Given the description of an element on the screen output the (x, y) to click on. 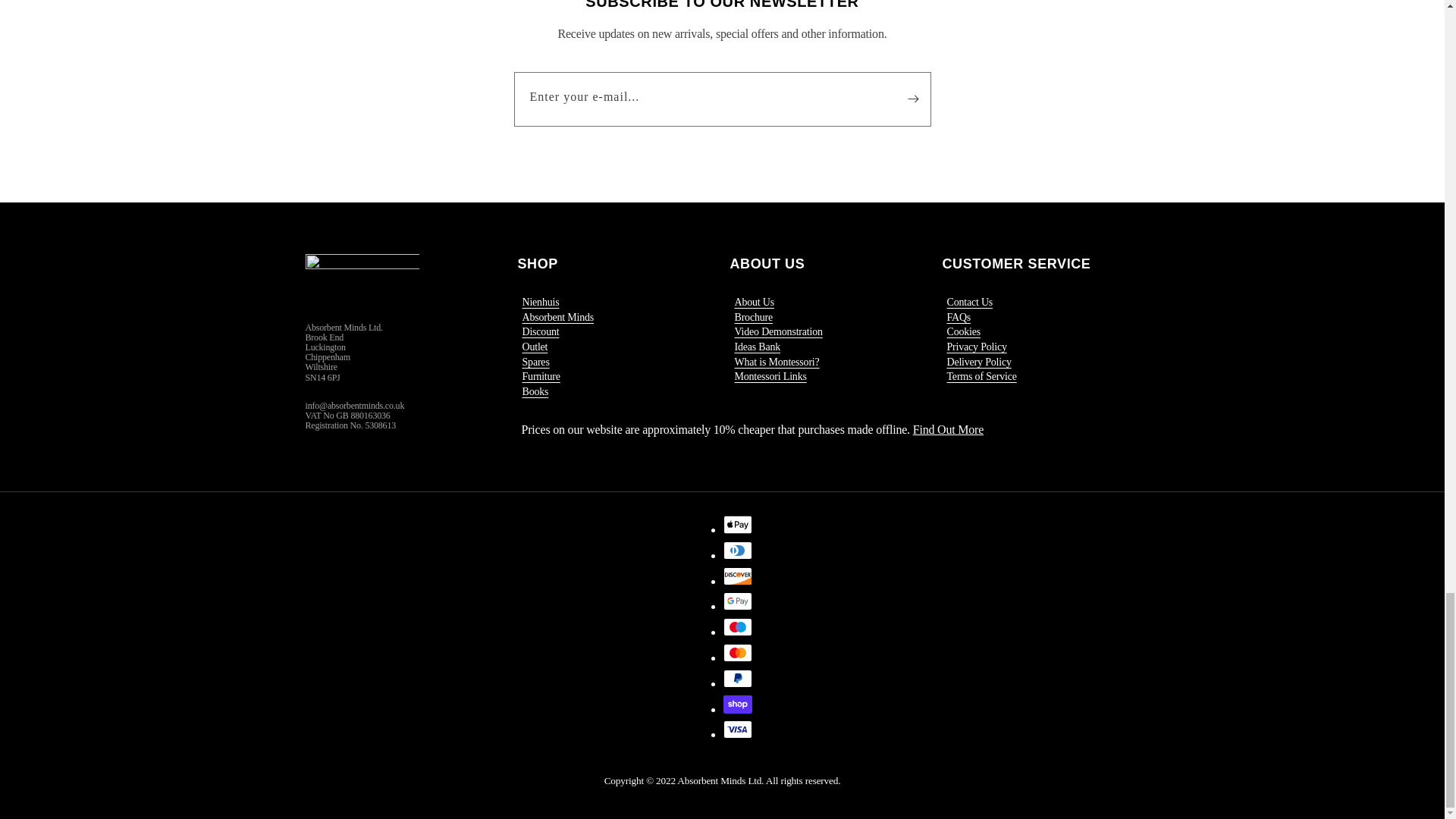
Discover (737, 576)
Our Best Prices are on the Website (948, 429)
Apple Pay (737, 524)
Diners Club (737, 550)
